Given the description of an element on the screen output the (x, y) to click on. 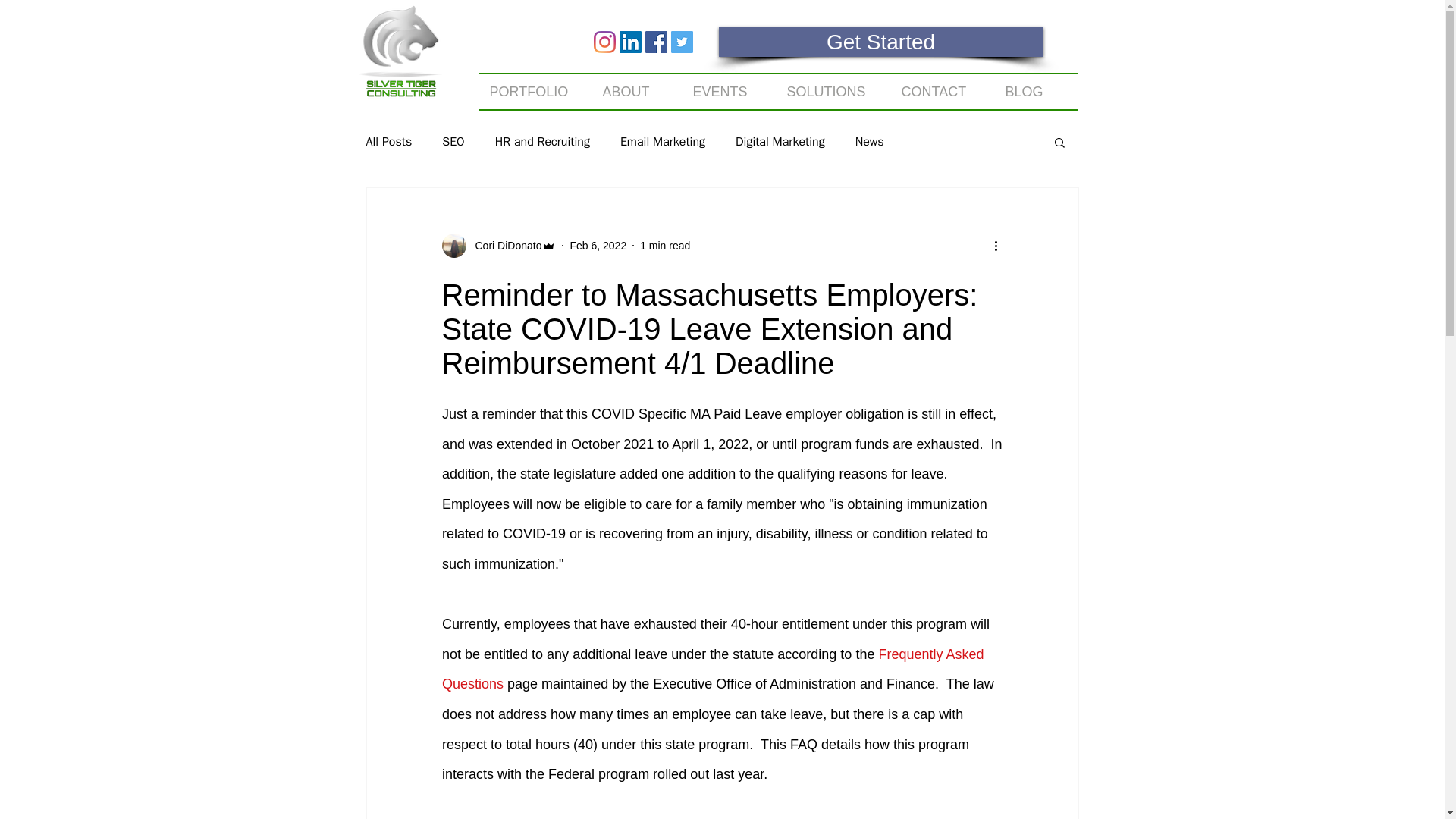
1 min read (665, 245)
Digital Marketing (780, 141)
SEO (453, 141)
Cori DiDonato (503, 245)
Get Started (881, 41)
CONTACT (941, 91)
BLOG (1034, 91)
ABOUT (636, 91)
HR and Recruiting (542, 141)
SOLUTIONS (831, 91)
Frequently Asked Questions (714, 669)
All Posts (388, 141)
News (869, 141)
Cori DiDonato (498, 245)
Email Marketing (662, 141)
